Given the description of an element on the screen output the (x, y) to click on. 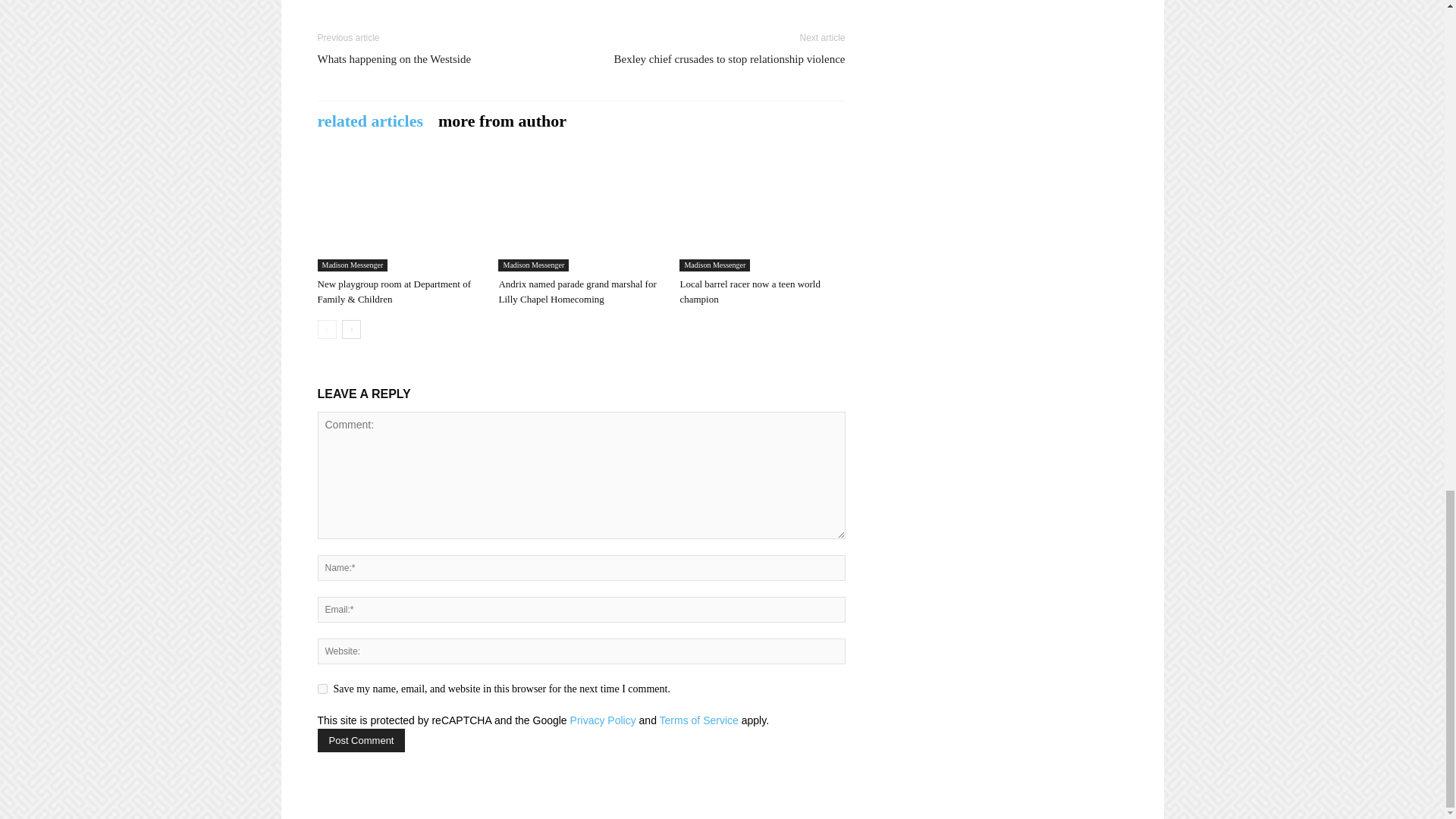
Post Comment (360, 740)
yes (321, 688)
